Given the description of an element on the screen output the (x, y) to click on. 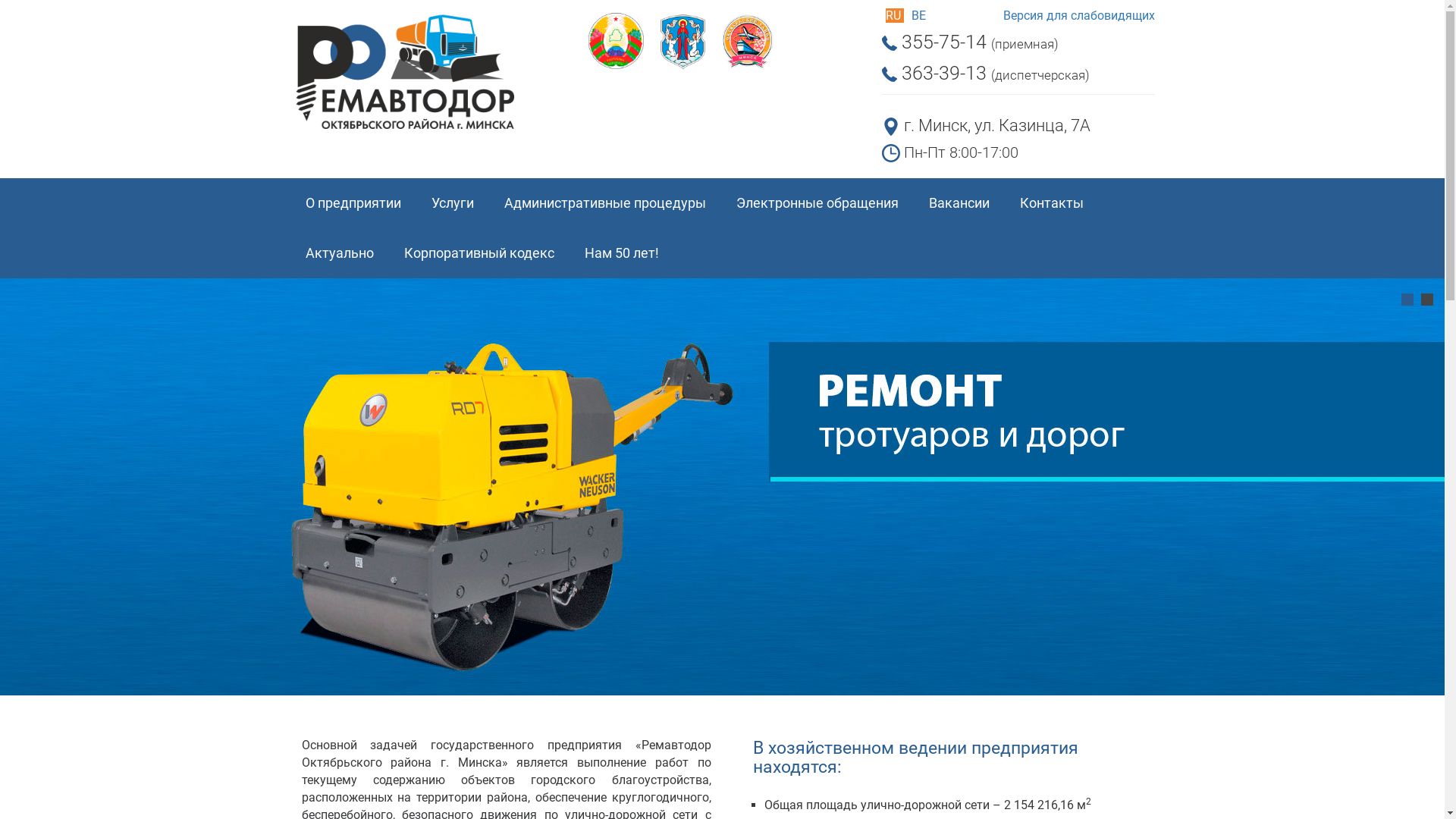
RU Element type: text (894, 15)
BE Element type: text (918, 15)
